Given the description of an element on the screen output the (x, y) to click on. 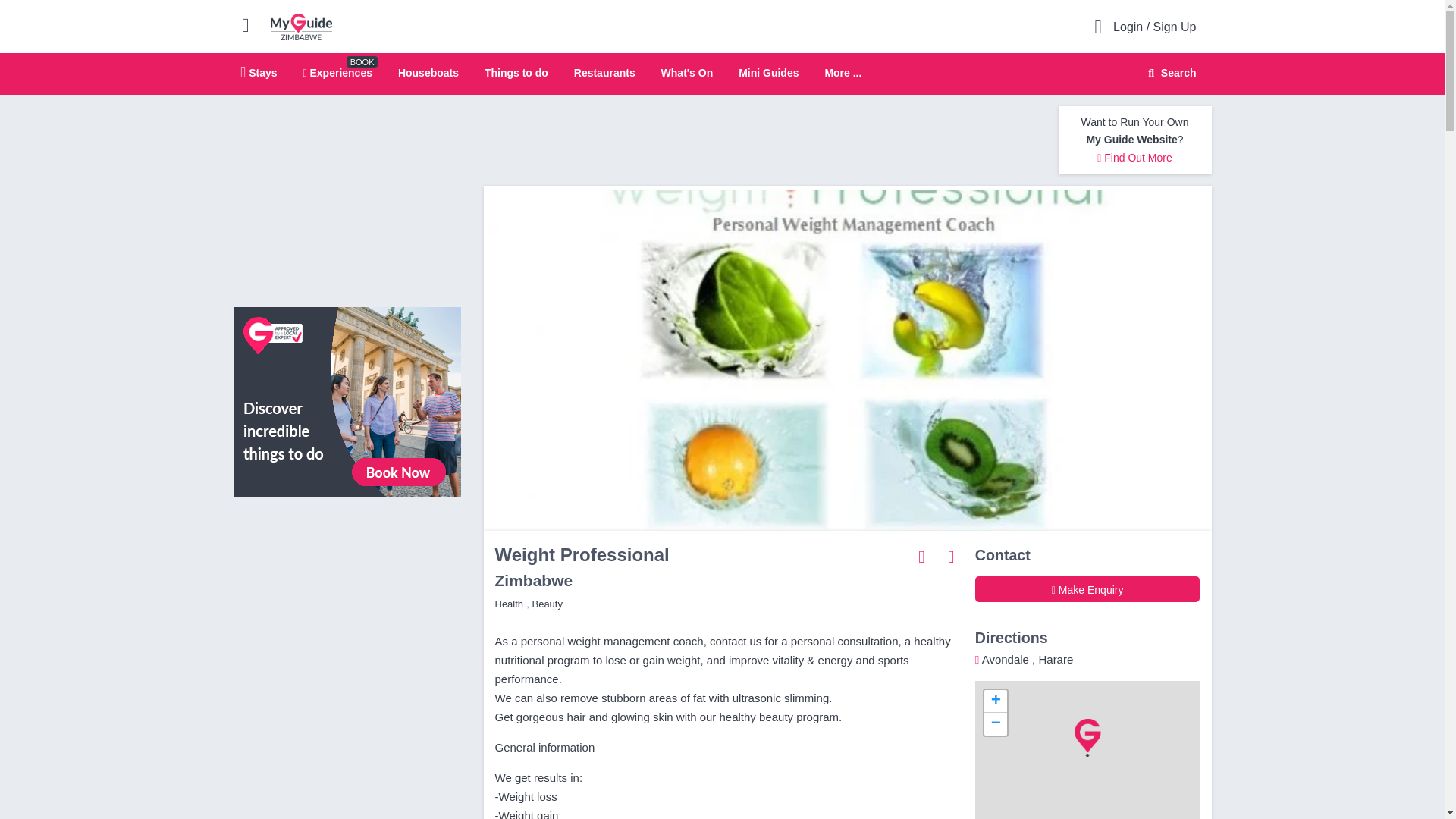
Search (1169, 72)
Stays (259, 72)
What's On (687, 72)
Houseboats (427, 72)
Zoom in (995, 701)
Experiences (337, 72)
Mini Guides (767, 72)
More ... (842, 72)
View All Experiences (346, 400)
Zoom out (995, 723)
Restaurants (603, 72)
Search Website (1170, 73)
My Guide Zimbabwe (300, 25)
